Given the description of an element on the screen output the (x, y) to click on. 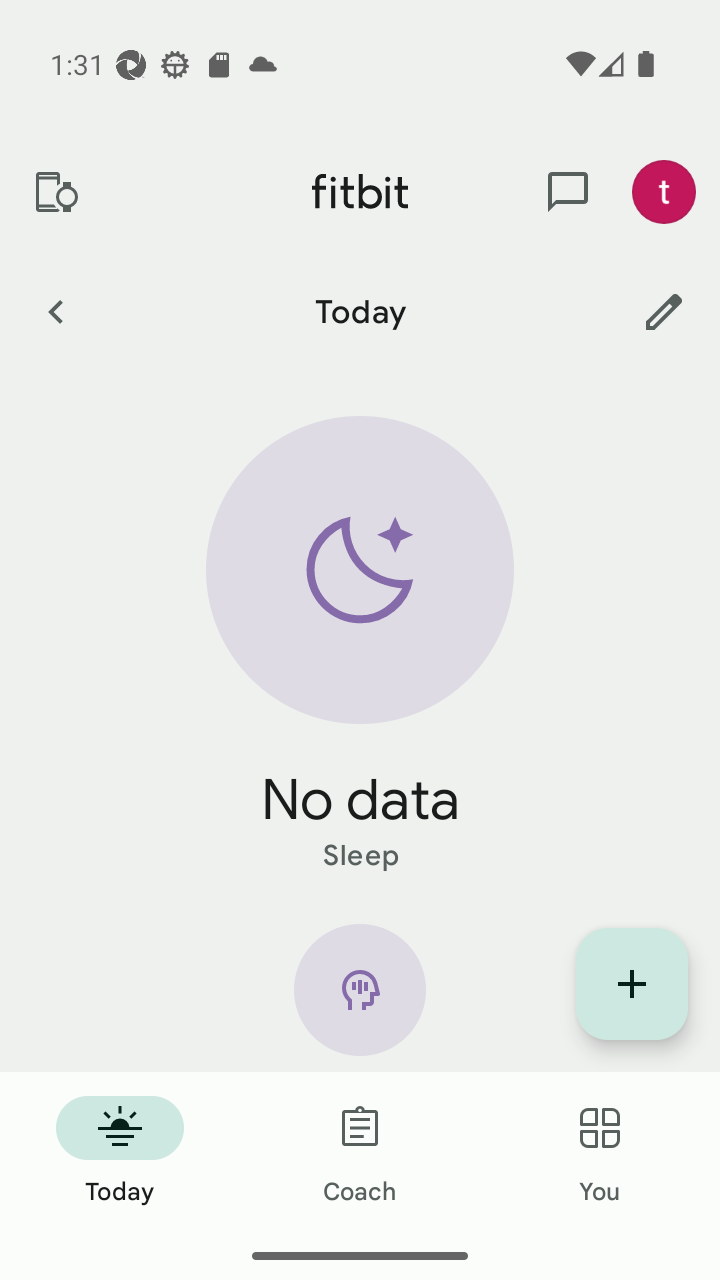
Devices and apps (55, 191)
messages and notifications (567, 191)
Previous Day (55, 311)
Customize (664, 311)
Sleep static hero arc No data Sleep (359, 645)
Mindfulness icon (360, 998)
Display list of quick log entries (632, 983)
Coach (359, 1151)
You (600, 1151)
